Given the description of an element on the screen output the (x, y) to click on. 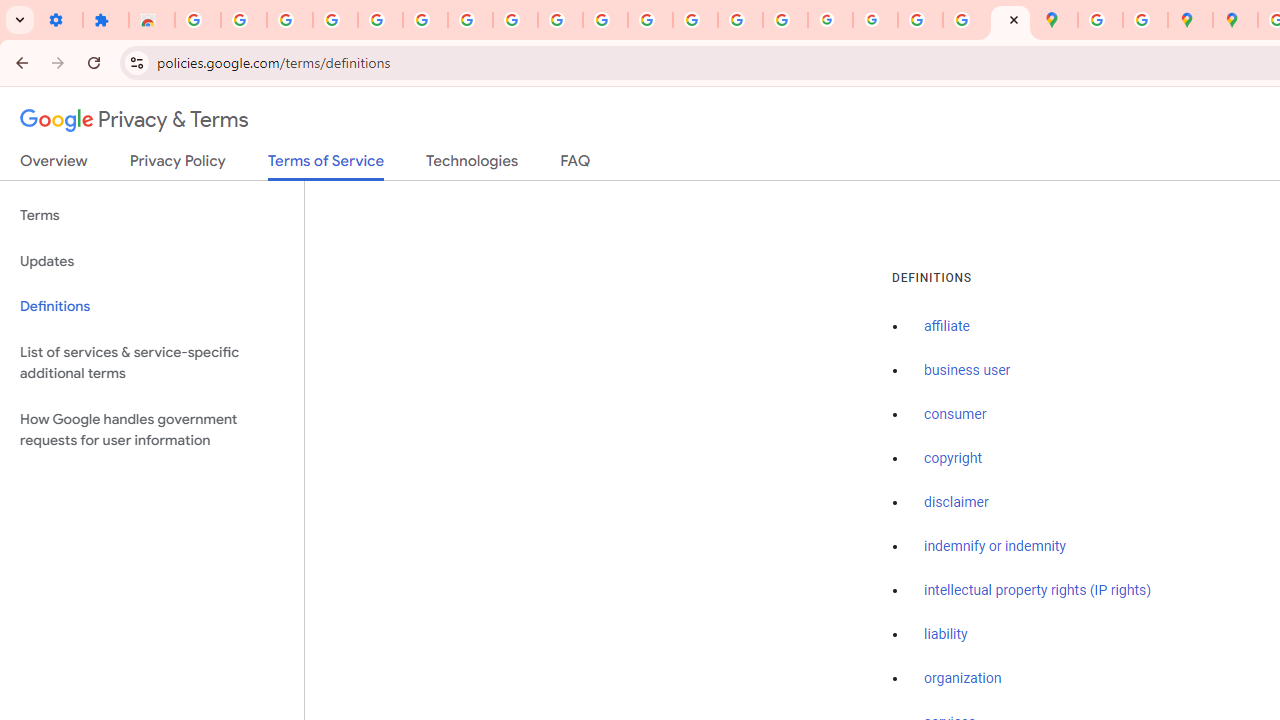
organization (963, 679)
Technologies (472, 165)
disclaimer (956, 502)
Settings - On startup (60, 20)
YouTube (559, 20)
consumer (955, 415)
How Google handles government requests for user information (152, 429)
FAQ (575, 165)
